Given the description of an element on the screen output the (x, y) to click on. 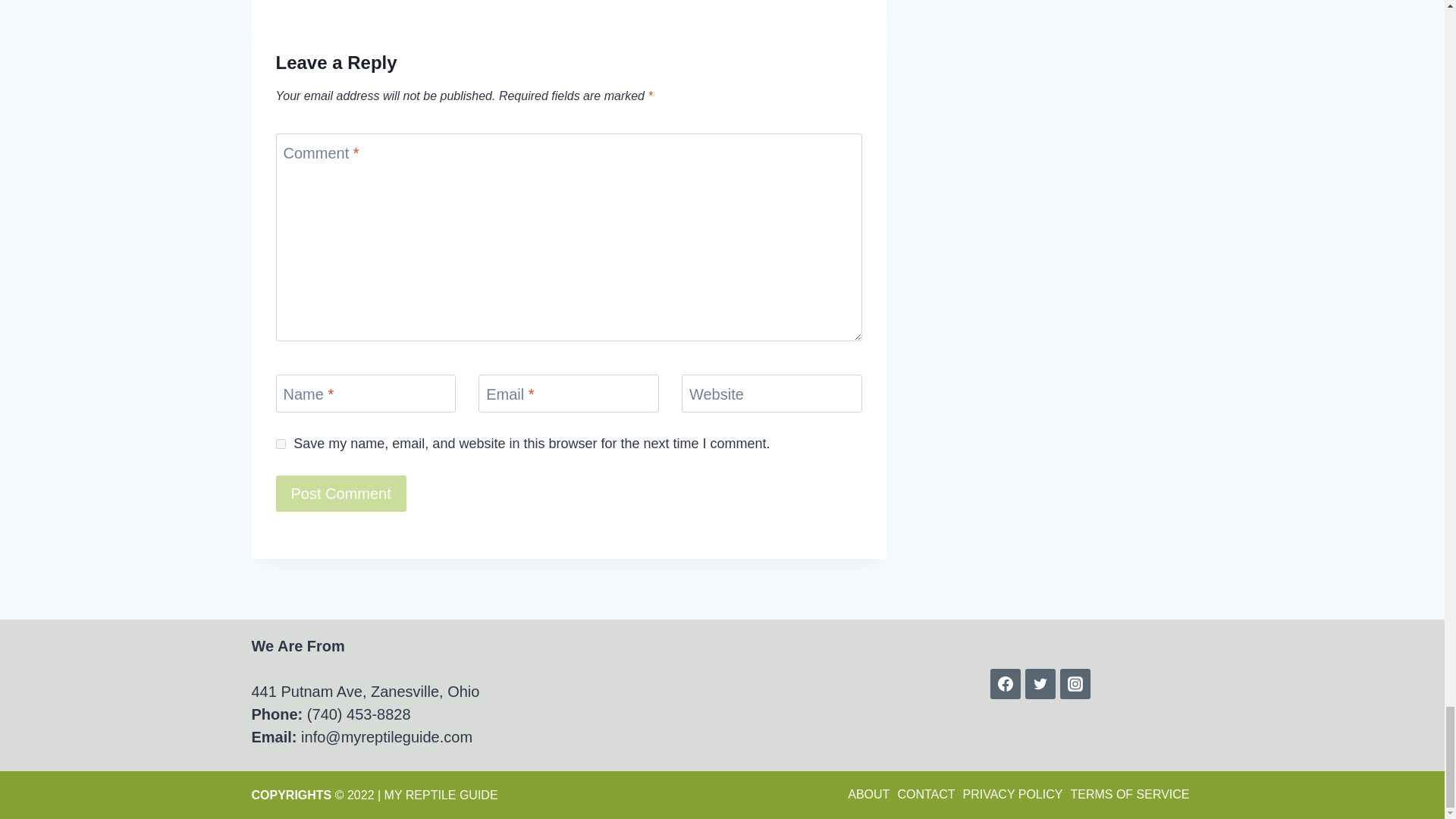
PRIVACY POLICY (1013, 794)
CONTACT (925, 794)
Post Comment (341, 493)
ABOUT (868, 794)
TERMS OF SERVICE (1128, 794)
Post Comment (280, 443)
